Given the description of an element on the screen output the (x, y) to click on. 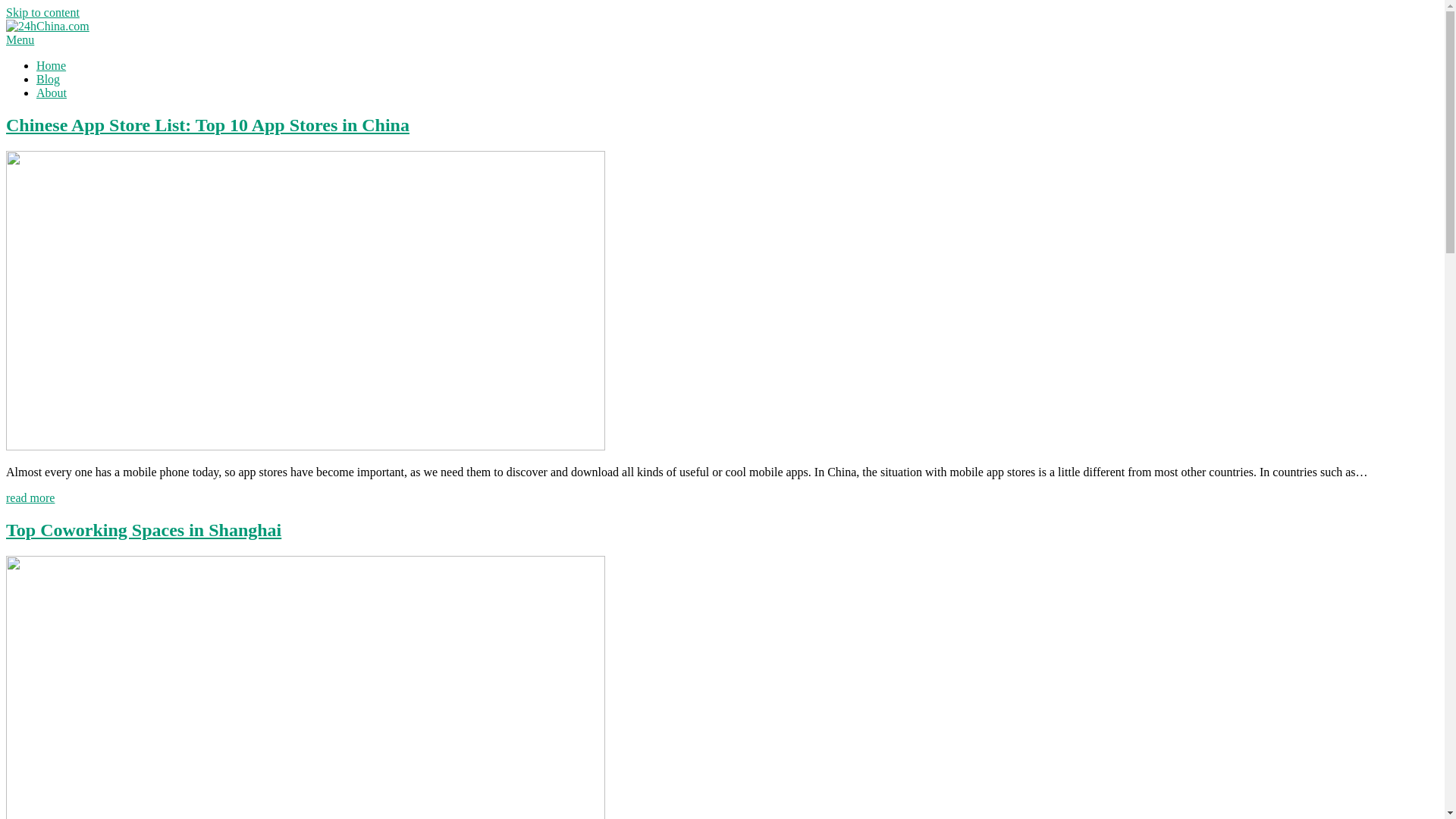
Menu Element type: text (20, 39)
Top Coworking Spaces in Shanghai Element type: text (143, 529)
Blog Element type: text (47, 78)
Skip to content Element type: text (42, 12)
read more Element type: text (30, 497)
Home Element type: text (50, 65)
Chinese App Store List: Top 10 App Stores in China Element type: text (207, 124)
About Element type: text (51, 92)
